Given the description of an element on the screen output the (x, y) to click on. 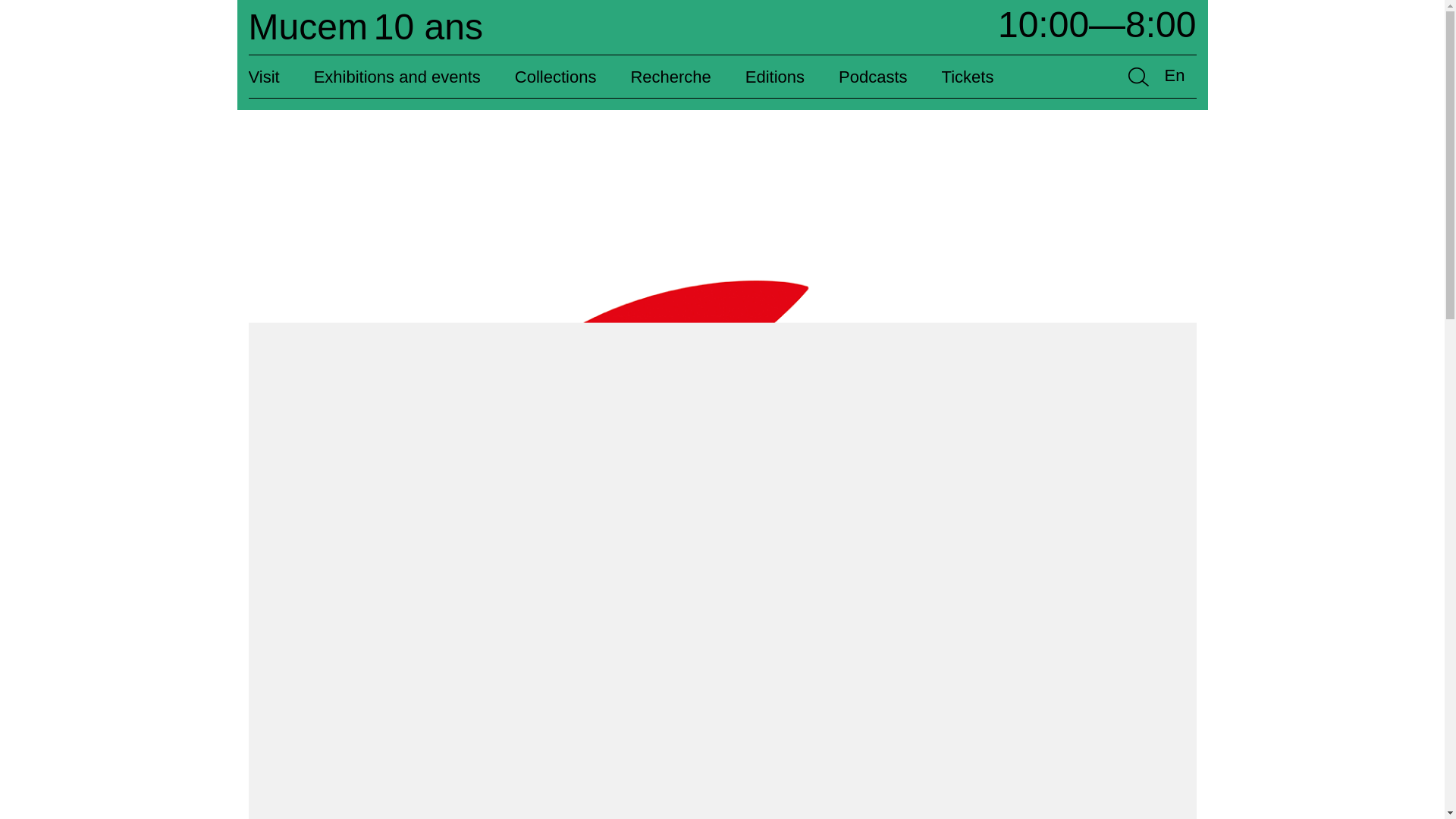
Visit (272, 76)
Home (265, 20)
Exhibitions and events (397, 76)
Mucem10 ans (365, 26)
Podcasts (872, 76)
Les podcasts du Mucem (872, 76)
Editions (775, 76)
Collections (555, 76)
Mucem (365, 26)
Recherche (670, 76)
